Given the description of an element on the screen output the (x, y) to click on. 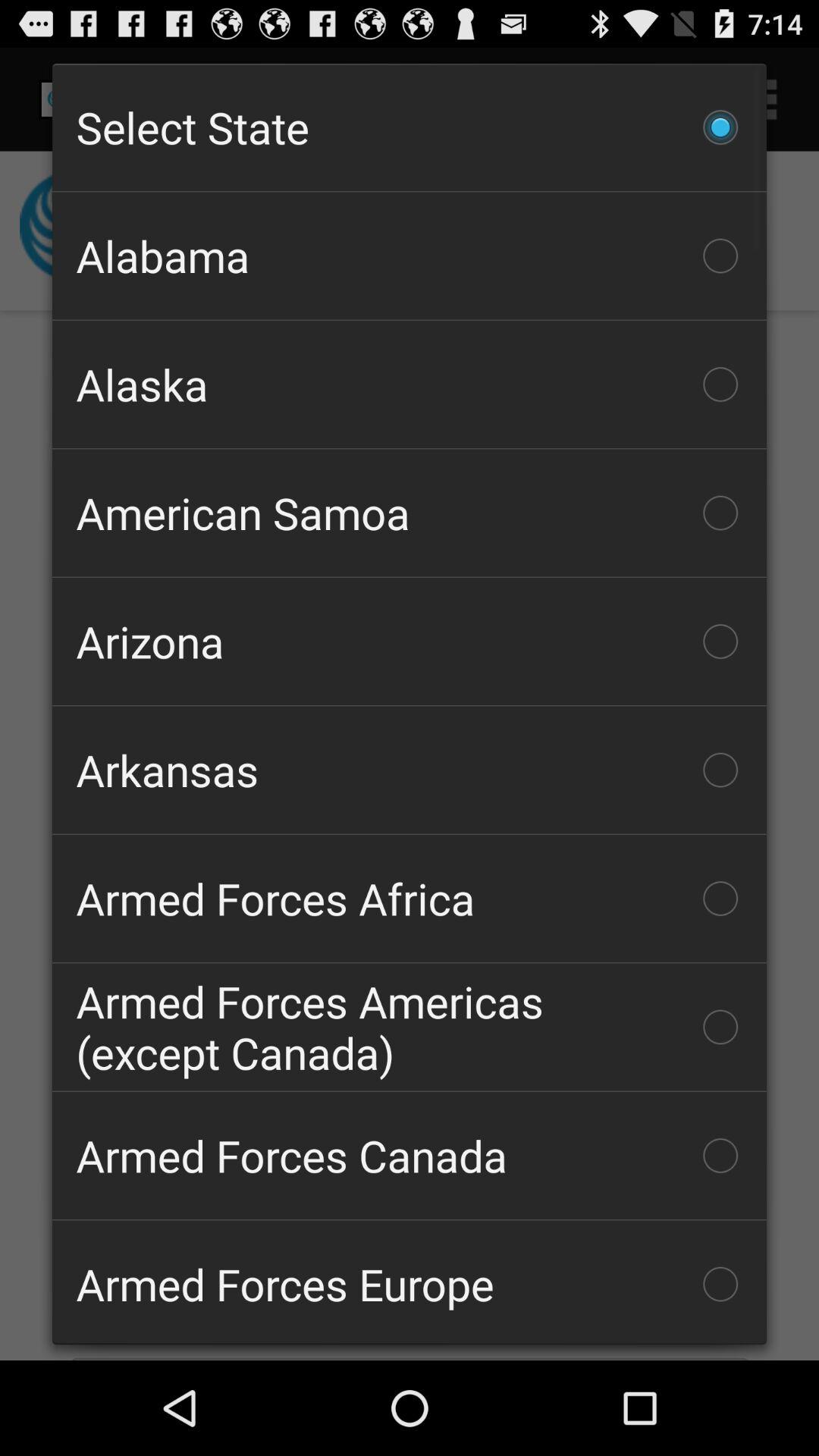
turn on item above the alaska (409, 255)
